Given the description of an element on the screen output the (x, y) to click on. 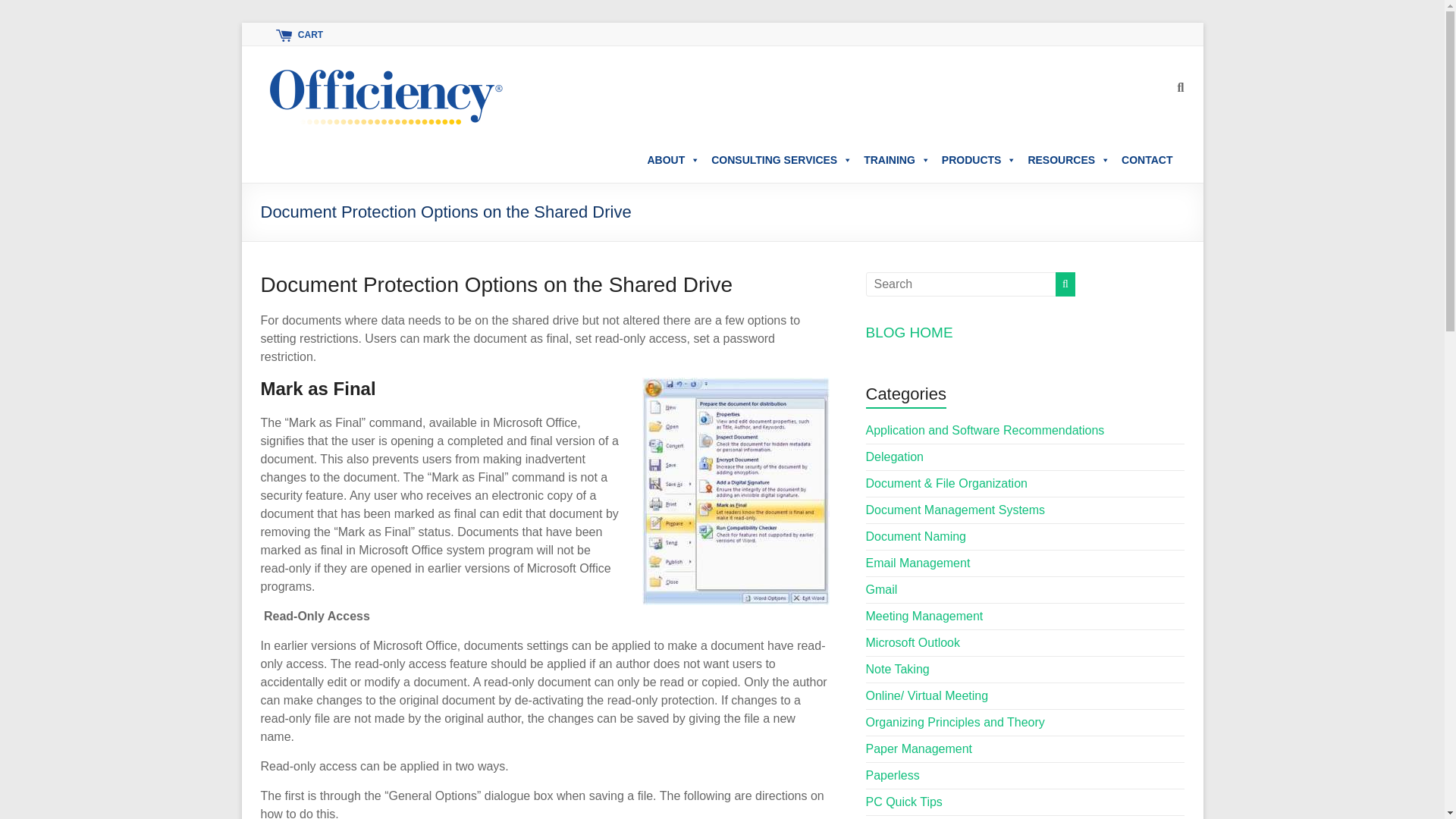
TRAINING (896, 159)
CONTACT (1146, 159)
CONSULTING SERVICES (781, 159)
RESOURCES (1068, 159)
ABOUT (673, 159)
PRODUCTS (979, 159)
CART (296, 34)
